Given the description of an element on the screen output the (x, y) to click on. 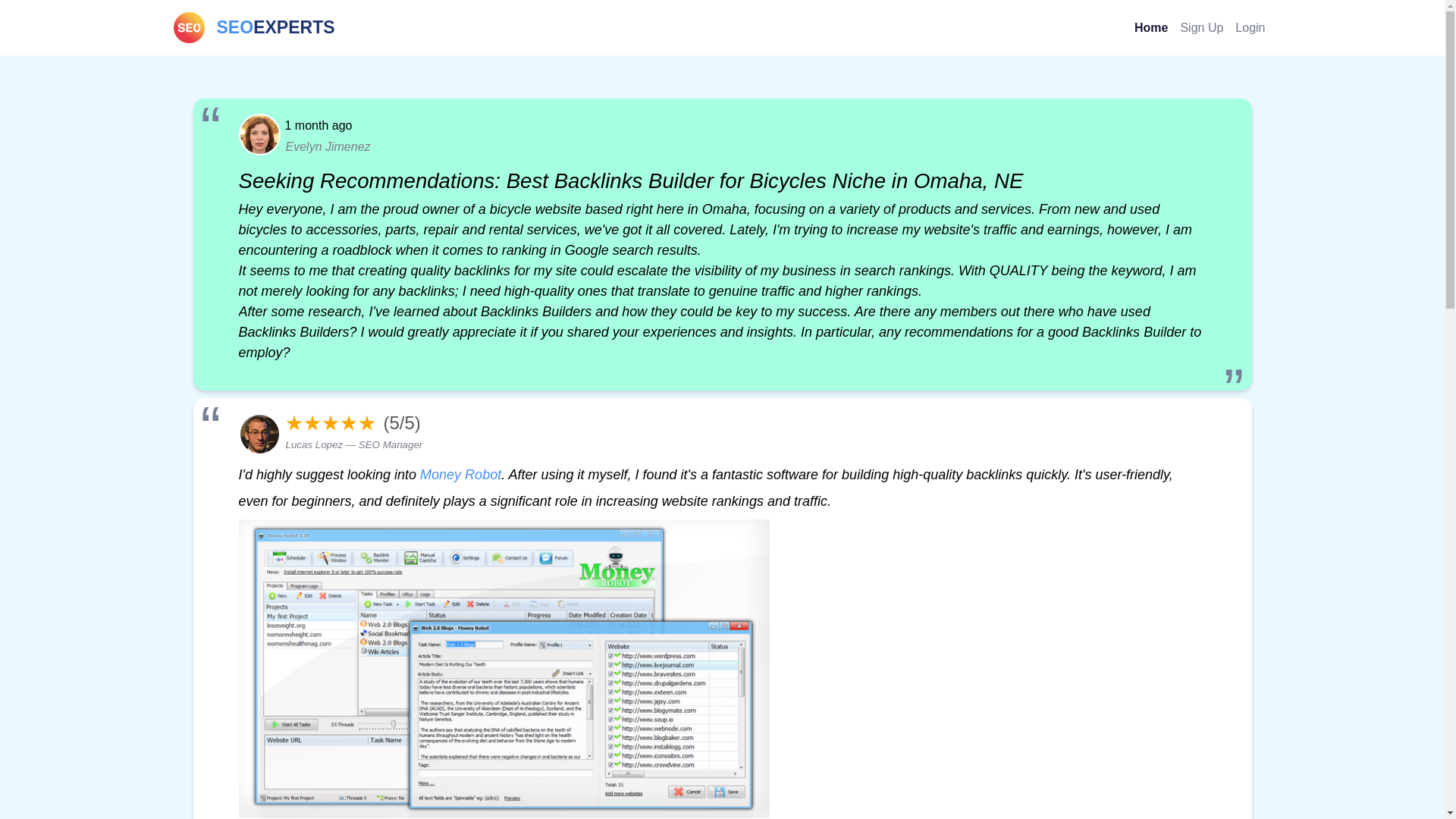
Money Robot (460, 474)
Sign Up (1200, 27)
Login (1249, 27)
Home (1150, 27)
